Given the description of an element on the screen output the (x, y) to click on. 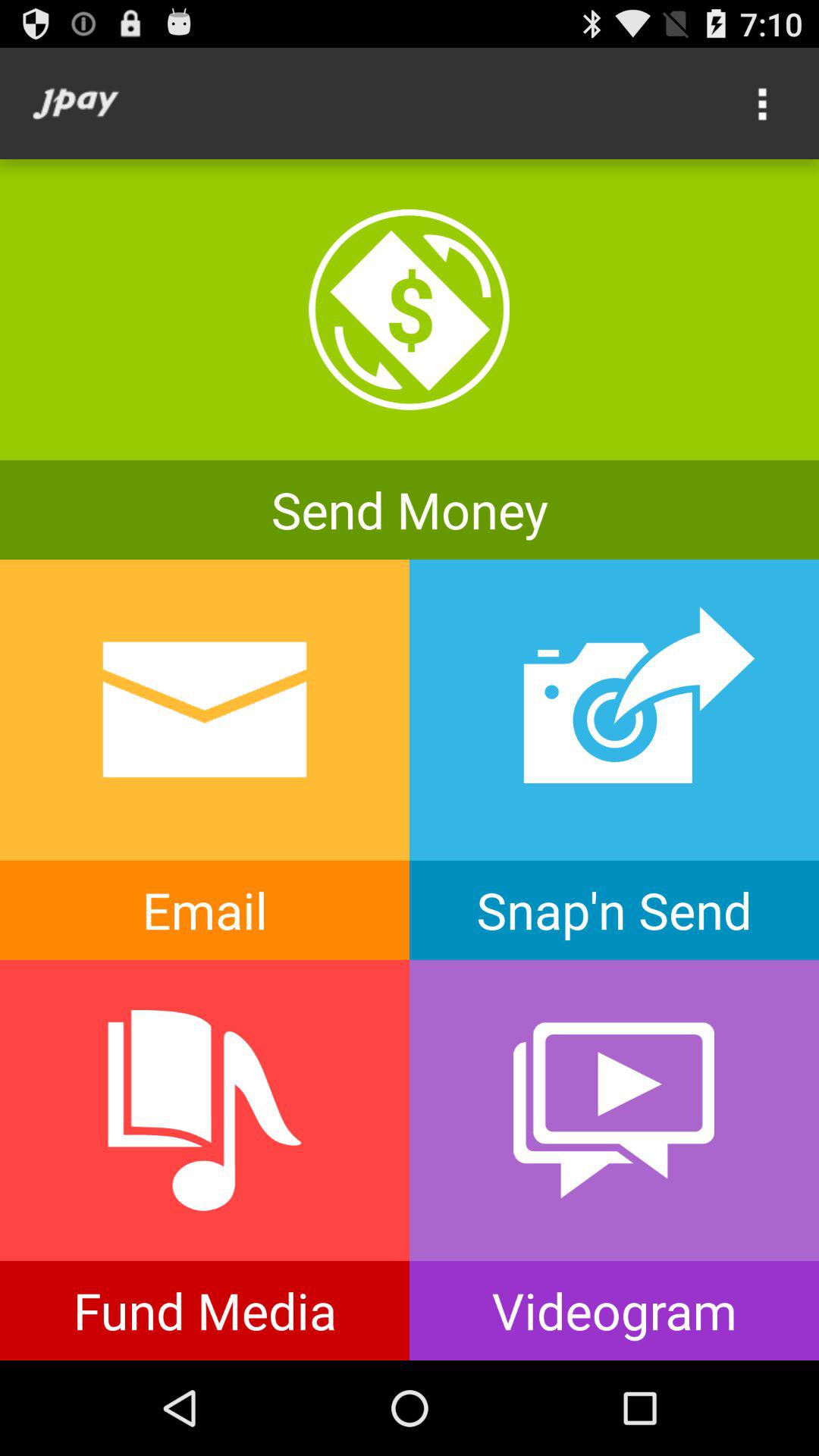
select snap n send (614, 759)
